Given the description of an element on the screen output the (x, y) to click on. 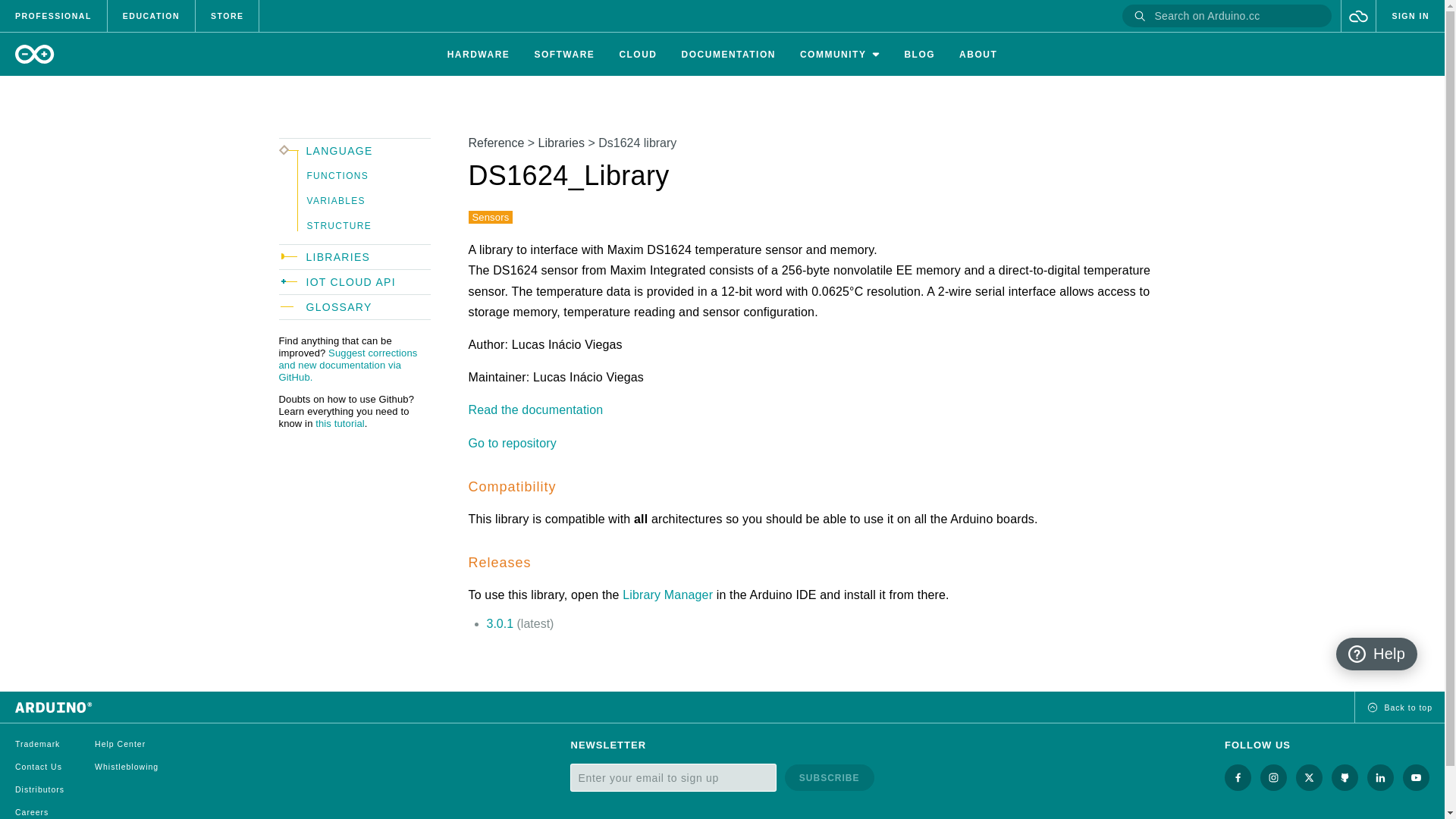
STORE (227, 15)
PROFESSIONAL (53, 15)
Careers (31, 811)
SOFTWARE (564, 54)
Software (564, 53)
this tutorial (340, 423)
Suggest corrections and new documentation via GitHub. (348, 365)
Blog (919, 53)
Whistleblowing (126, 766)
Reference (496, 142)
